Given the description of an element on the screen output the (x, y) to click on. 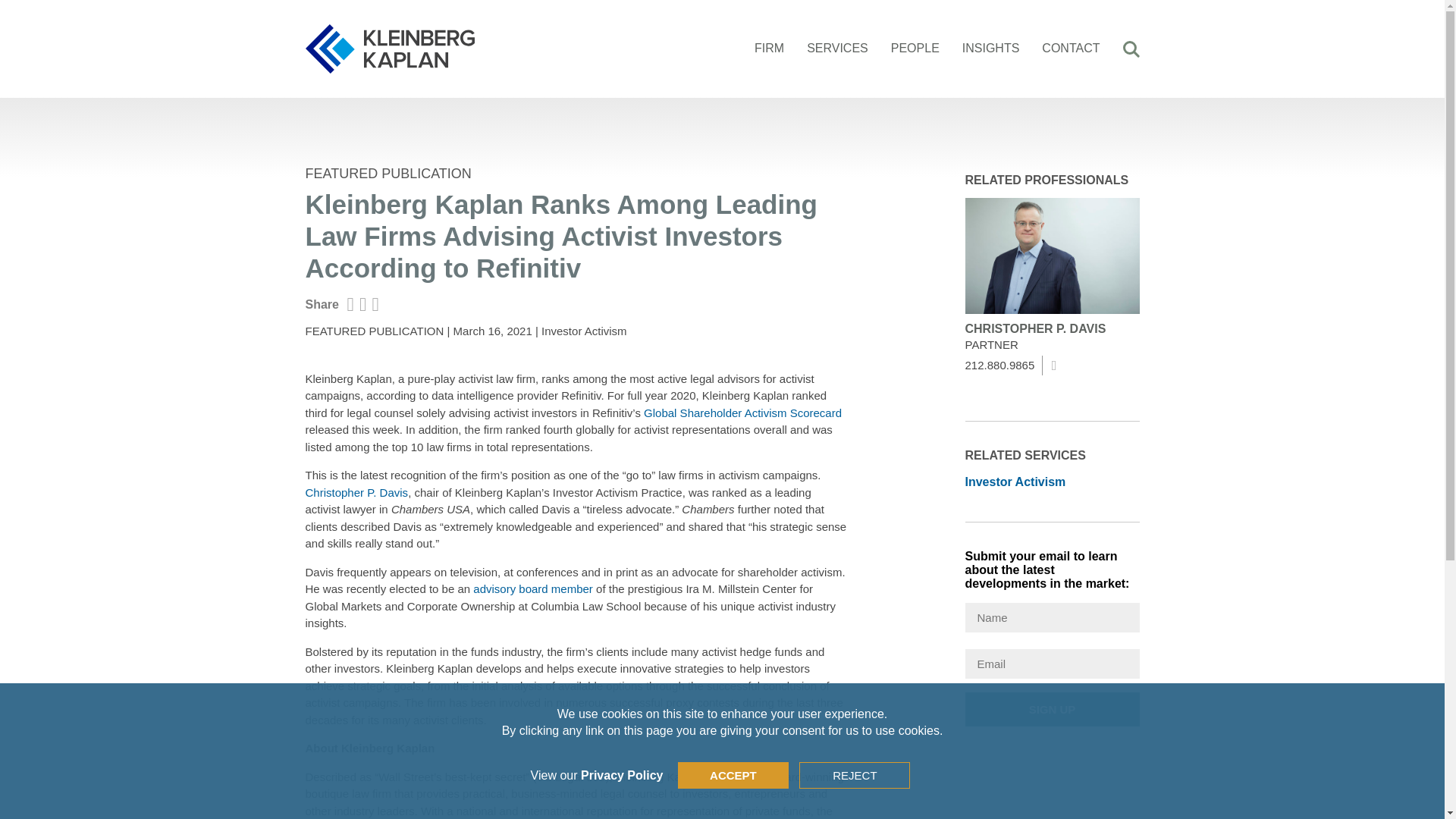
Search (1130, 49)
Sign Up (1050, 709)
